Given the description of an element on the screen output the (x, y) to click on. 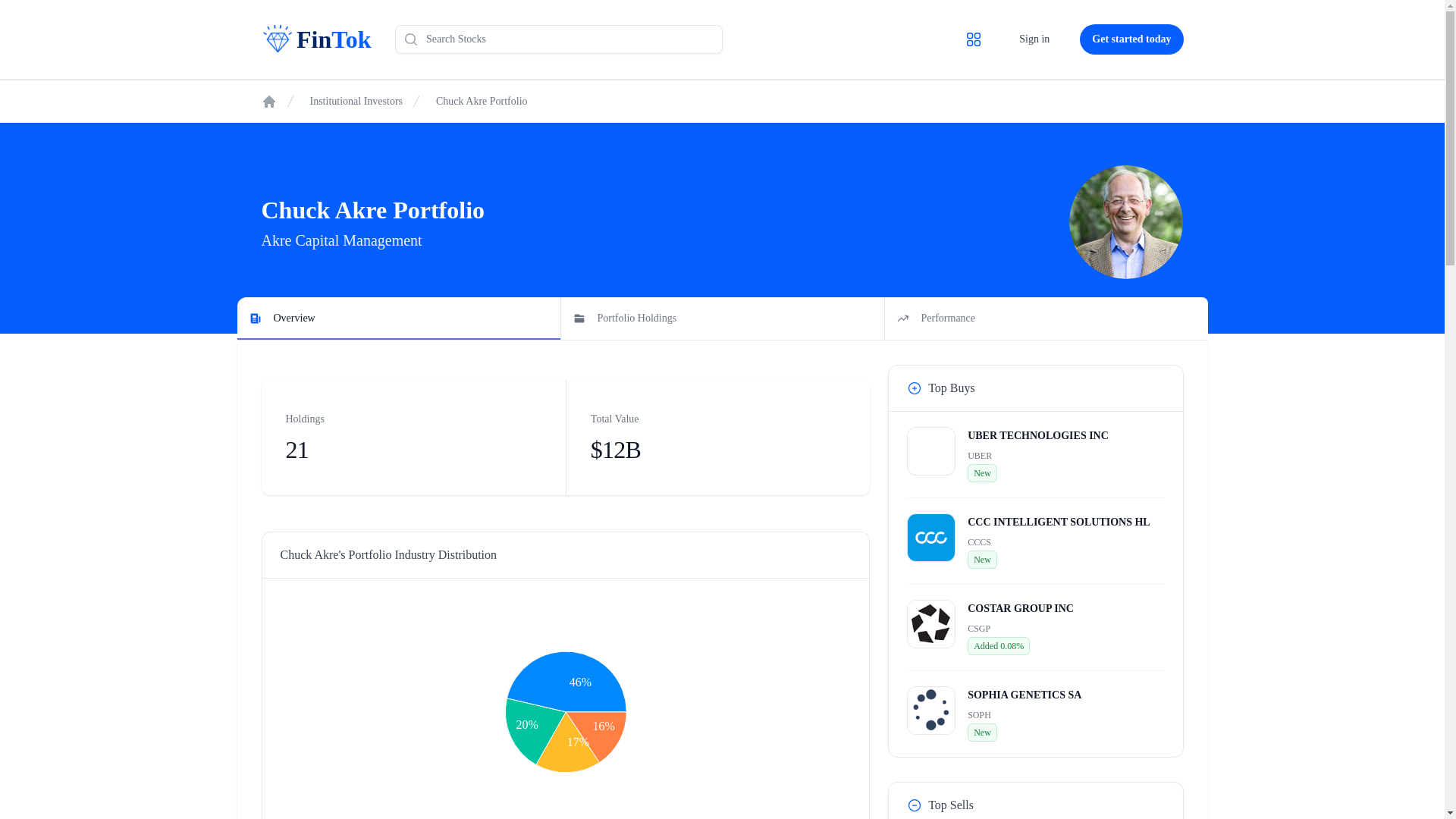
Chuck Akre Portfolio (481, 101)
Performance (1059, 540)
Sign in (1045, 318)
FinTok (1034, 39)
Institutional Investors (309, 39)
Home (1038, 454)
Portfolio Holdings (355, 101)
Overview (268, 101)
Get started today (721, 318)
